Given the description of an element on the screen output the (x, y) to click on. 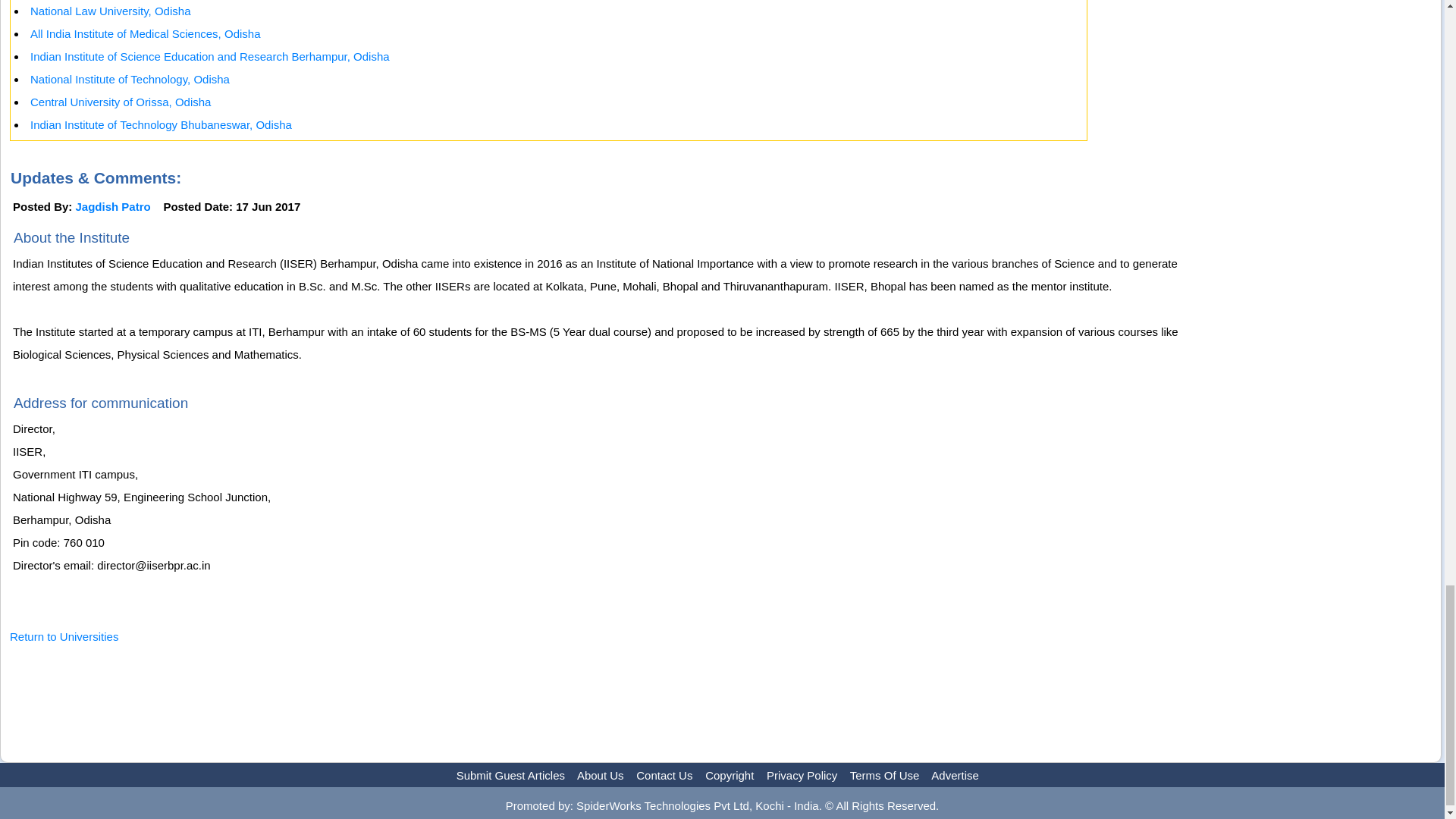
All India Institute of Medical Sciences (145, 33)
National Law University (110, 10)
Central University of Orissa (120, 101)
Indian Institute of Technology Bhubaneswar (161, 124)
National Institute of Technology (130, 78)
Indian Institute of Science Education and Research Berhampur (210, 56)
